Given the description of an element on the screen output the (x, y) to click on. 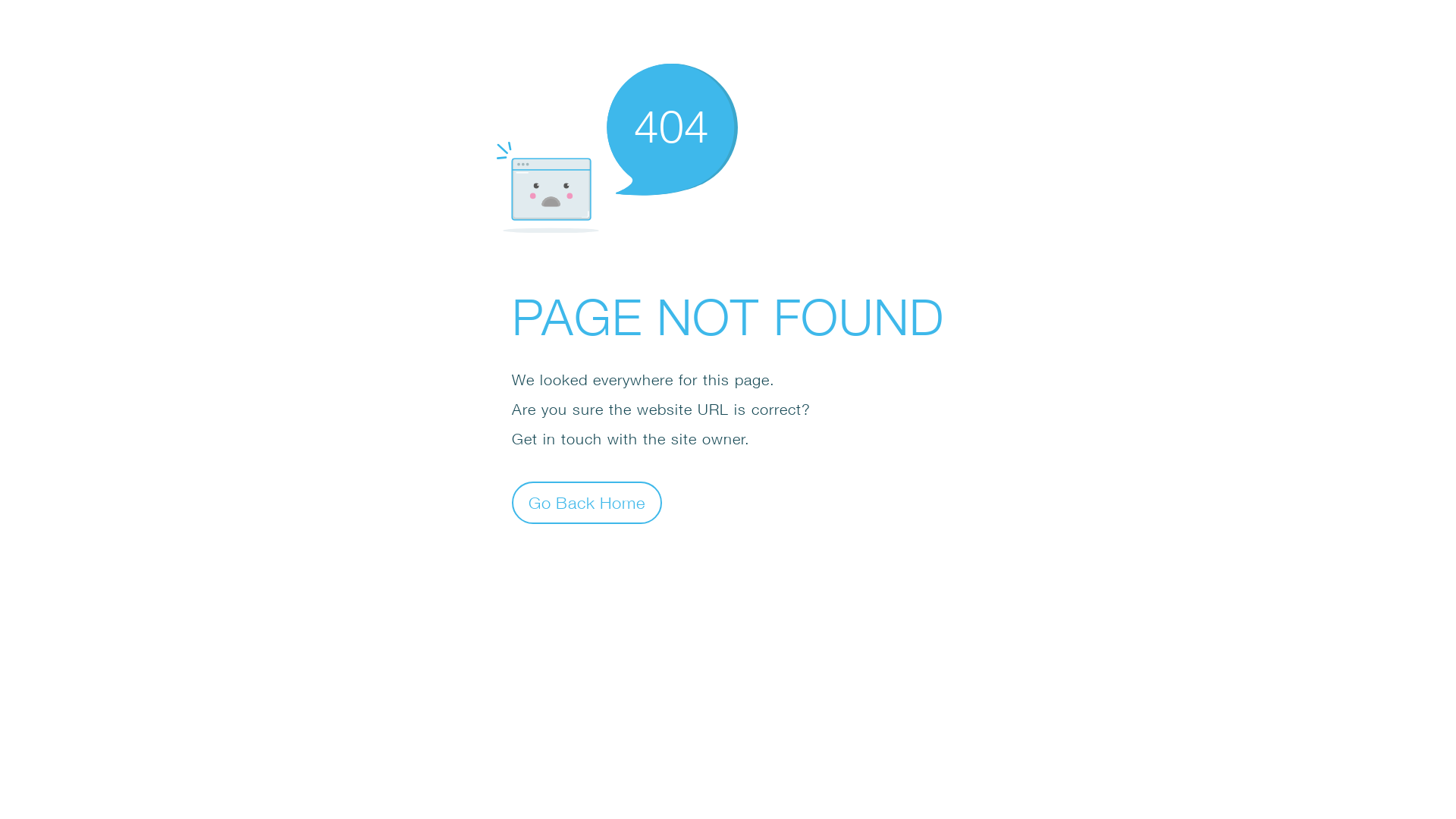
Go Back Home Element type: text (586, 502)
